Given the description of an element on the screen output the (x, y) to click on. 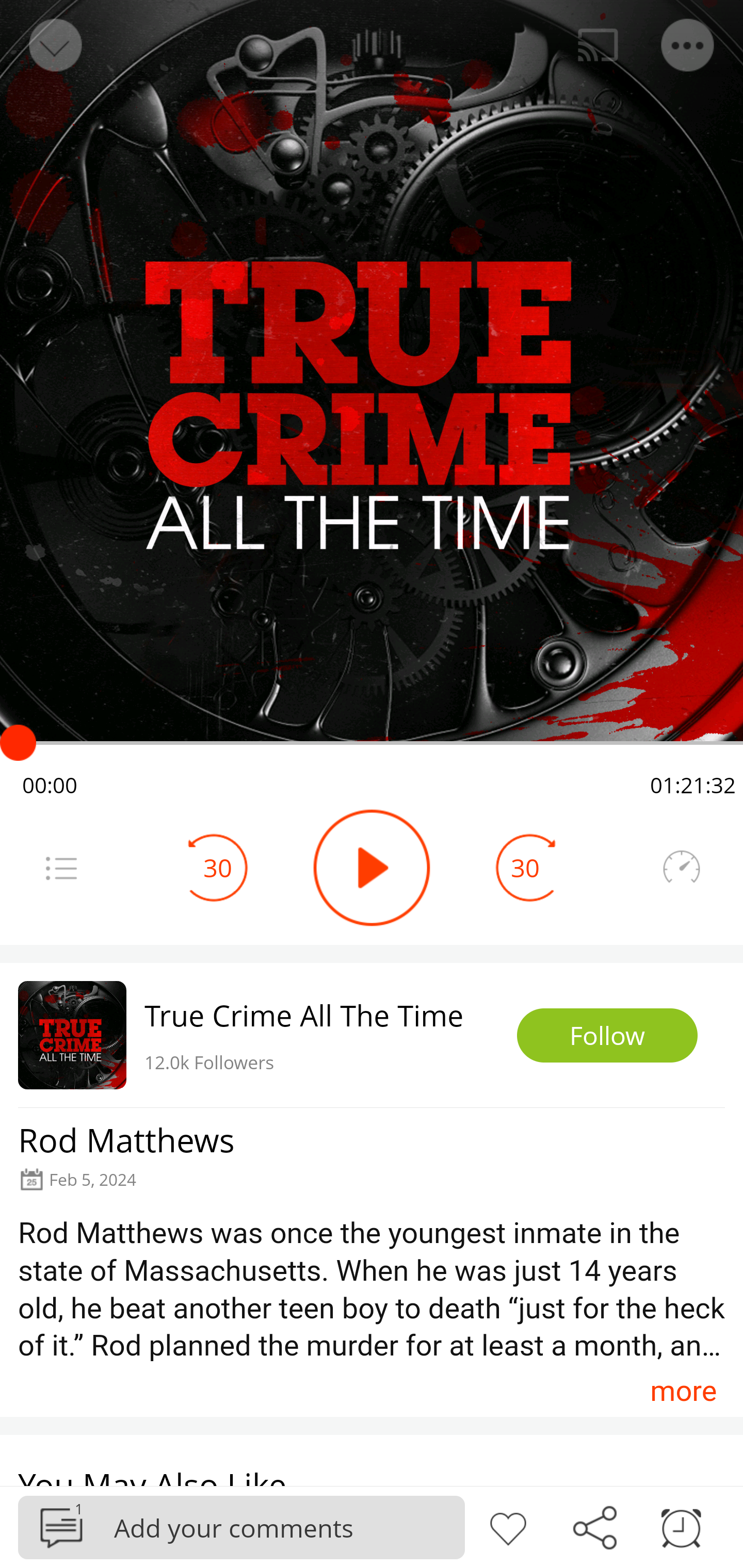
Back (53, 45)
Cast. Disconnected (597, 45)
Menu (688, 45)
Play (371, 867)
30 Seek Backward (217, 867)
30 Seek Forward (525, 867)
Menu (60, 867)
Speedometer (681, 867)
True Crime All The Time 12.0k Followers Follow (371, 1034)
Follow (607, 1035)
more (682, 1390)
Like (508, 1526)
Share (594, 1526)
Sleep timer (681, 1526)
Podbean 1 Add your comments (241, 1526)
